Given the description of an element on the screen output the (x, y) to click on. 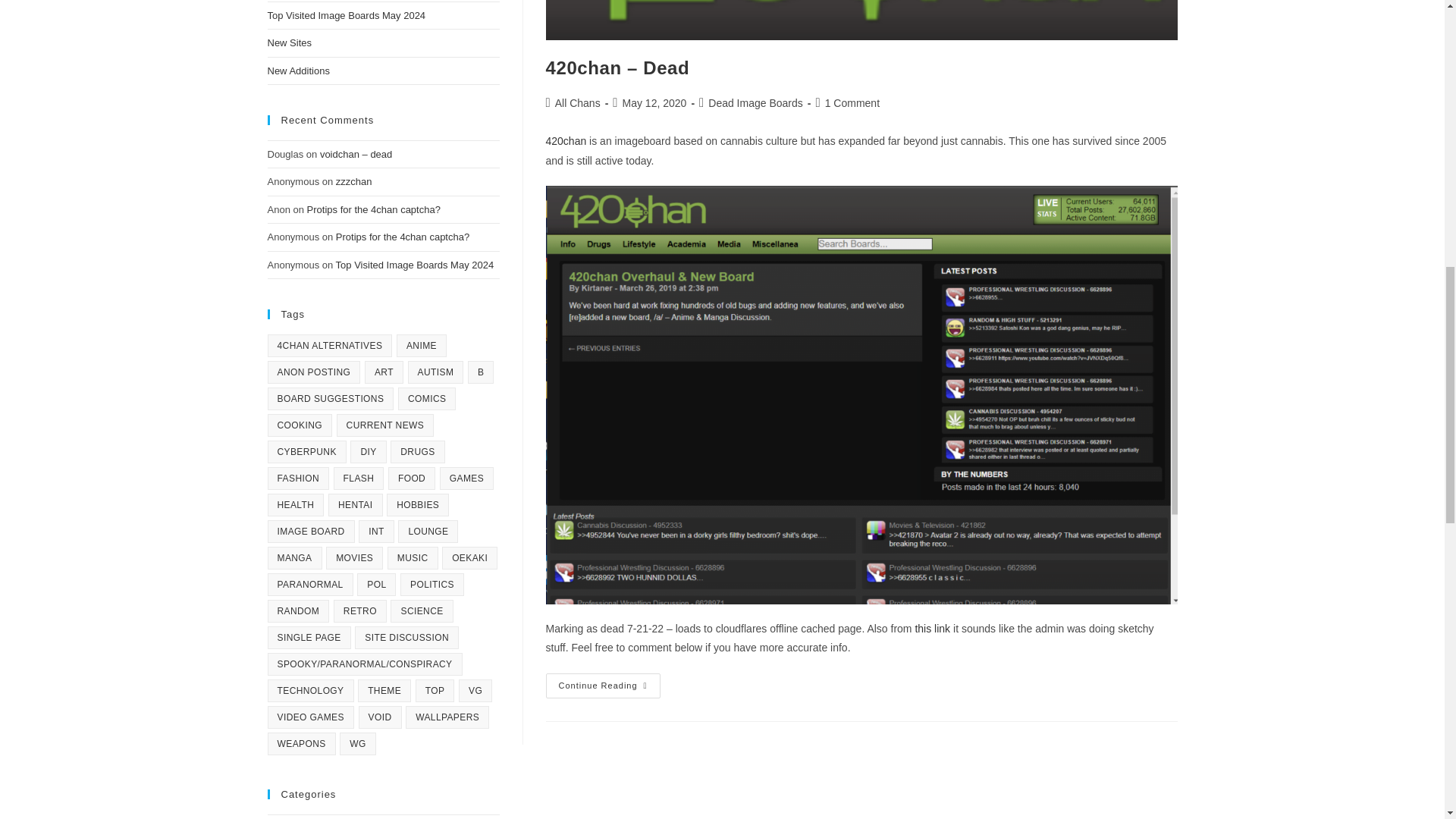
4CHAN ALTERNATIVES (328, 345)
Top Visited Image Boards May 2024 (415, 265)
420chan (566, 141)
New Additions (297, 70)
New Sites (288, 42)
Posts by All Chans (576, 102)
zzzchan (354, 181)
this link (932, 628)
Continue Reading (603, 685)
Dead Image Boards (755, 102)
1 Comment (852, 102)
All Chans (576, 102)
Top Visited Image Boards May 2024 (345, 15)
Protips for the 4chan captcha? (402, 236)
Protips for the 4chan captcha? (374, 209)
